Given the description of an element on the screen output the (x, y) to click on. 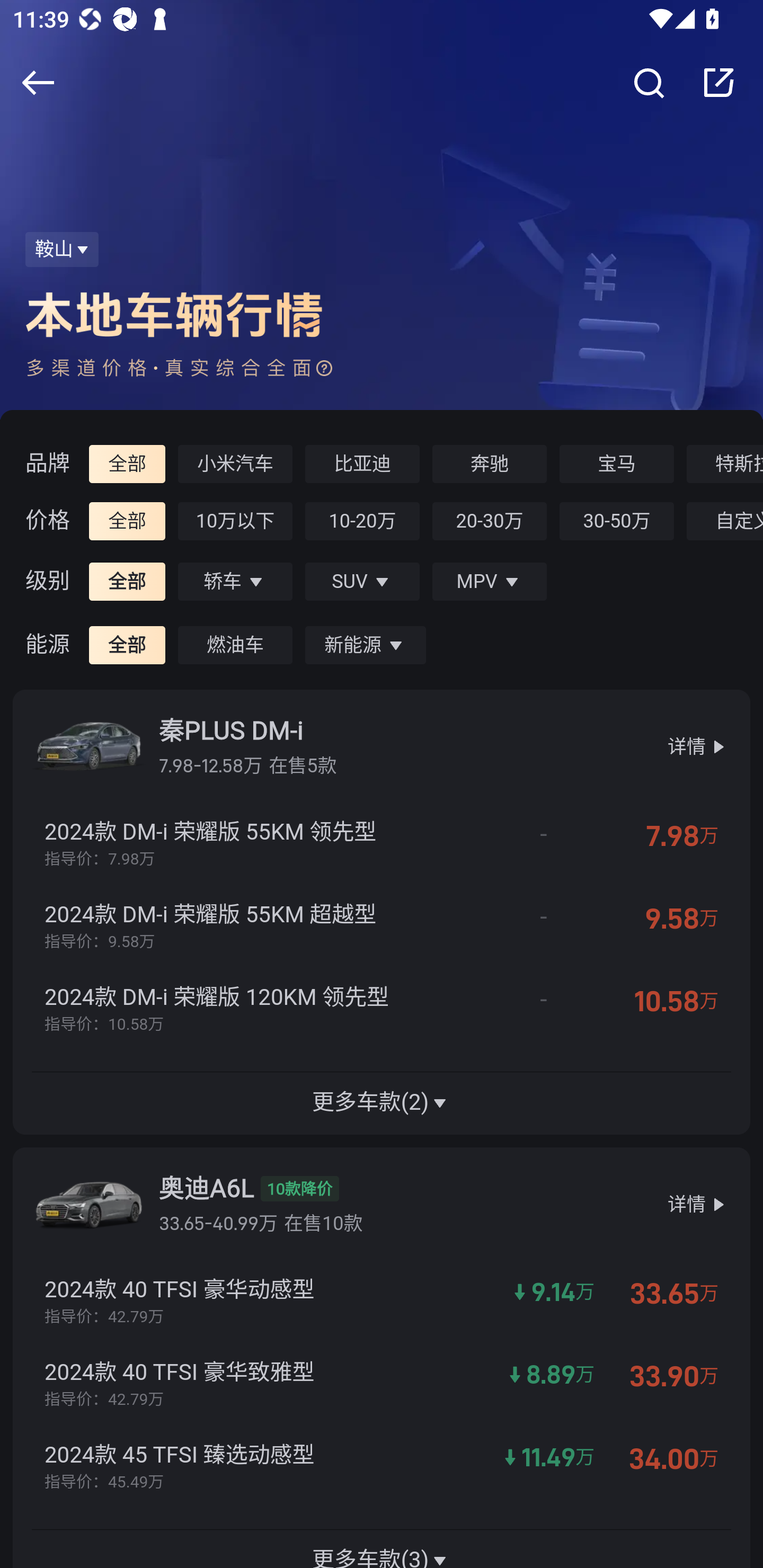
鞍山 (62, 249)
全部 (128, 463)
小米汽车 (235, 463)
比亚迪 (363, 463)
奔驰 (490, 463)
宝马 (617, 463)
全部 (128, 520)
10万以下 (235, 520)
10-20万 (363, 520)
20-30万 (490, 520)
30-50万 (617, 520)
全部 (128, 581)
轿车 (235, 581)
SUV (363, 581)
MPV (490, 581)
全部 (128, 644)
燃油车 (235, 644)
新能源 (366, 644)
2024款 DM-i 荣耀版 55KM 领先型 指导价：7.98万 - 7.98 万 (381, 845)
2024款 DM-i 荣耀版 55KM 超越型 指导价：9.58万 - 9.58 万 (381, 928)
2024款 DM-i 荣耀版 120KM 领先型 指导价：10.58万 - 10.58 万 (381, 1010)
更多车款 (2) (381, 1102)
2024款 40 TFSI 豪华动感型 指导价：42.79万 9.14 万 33.65 万 (381, 1302)
2024款 40 TFSI 豪华致雅型 指导价：42.79万 8.89 万 33.90 万 (381, 1384)
2024款 45 TFSI 臻选动感型 指导价：45.49万 11.49 万 34.00 万 (381, 1467)
更多车款 (3) (381, 1548)
